Given the description of an element on the screen output the (x, y) to click on. 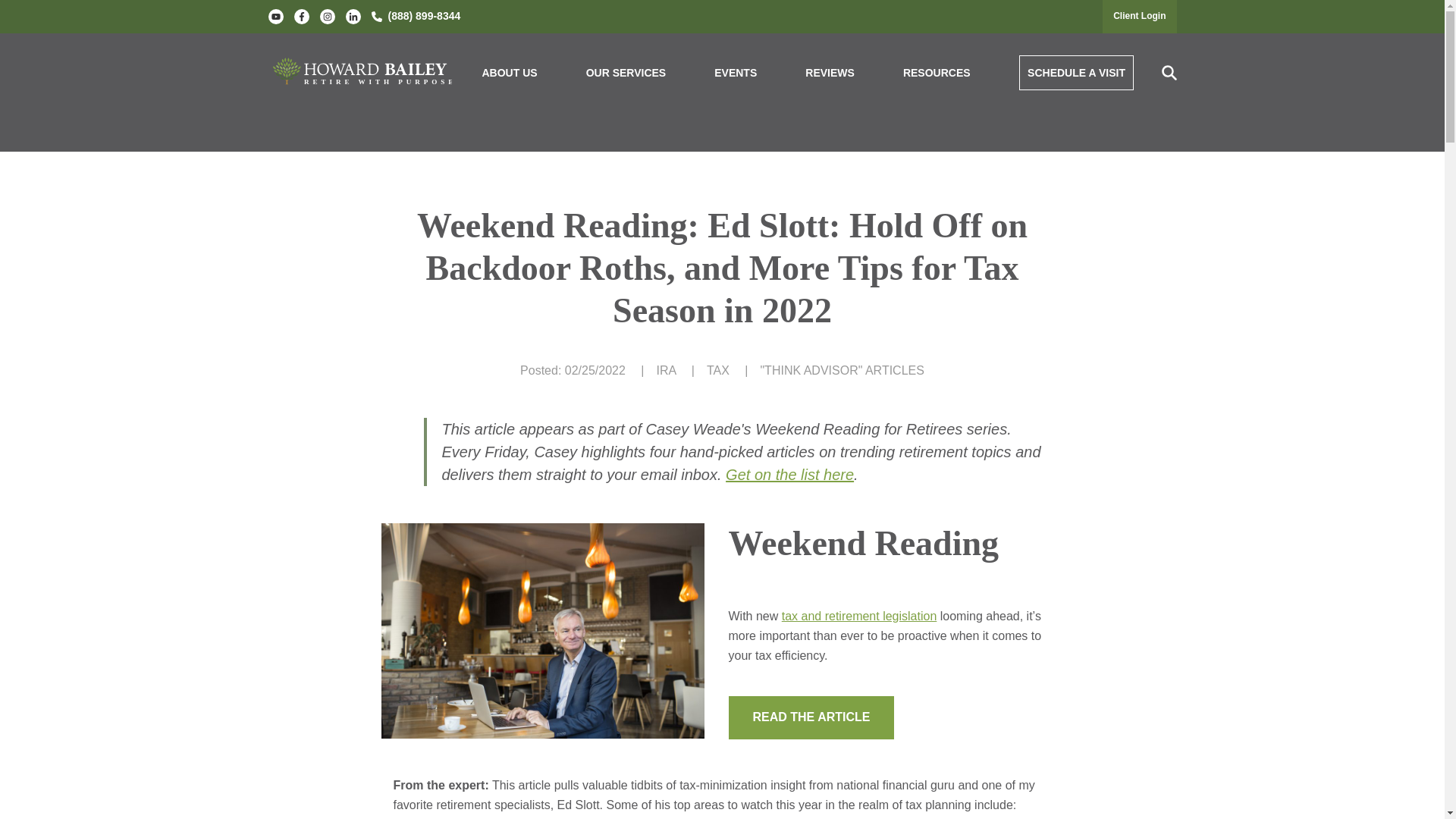
ABOUT US (509, 72)
Client Login (1139, 16)
OUR SERVICES (626, 72)
REVIEWS (829, 72)
RESOURCES (936, 72)
SCHEDULE A VISIT (1077, 72)
EVENTS (735, 72)
